Given the description of an element on the screen output the (x, y) to click on. 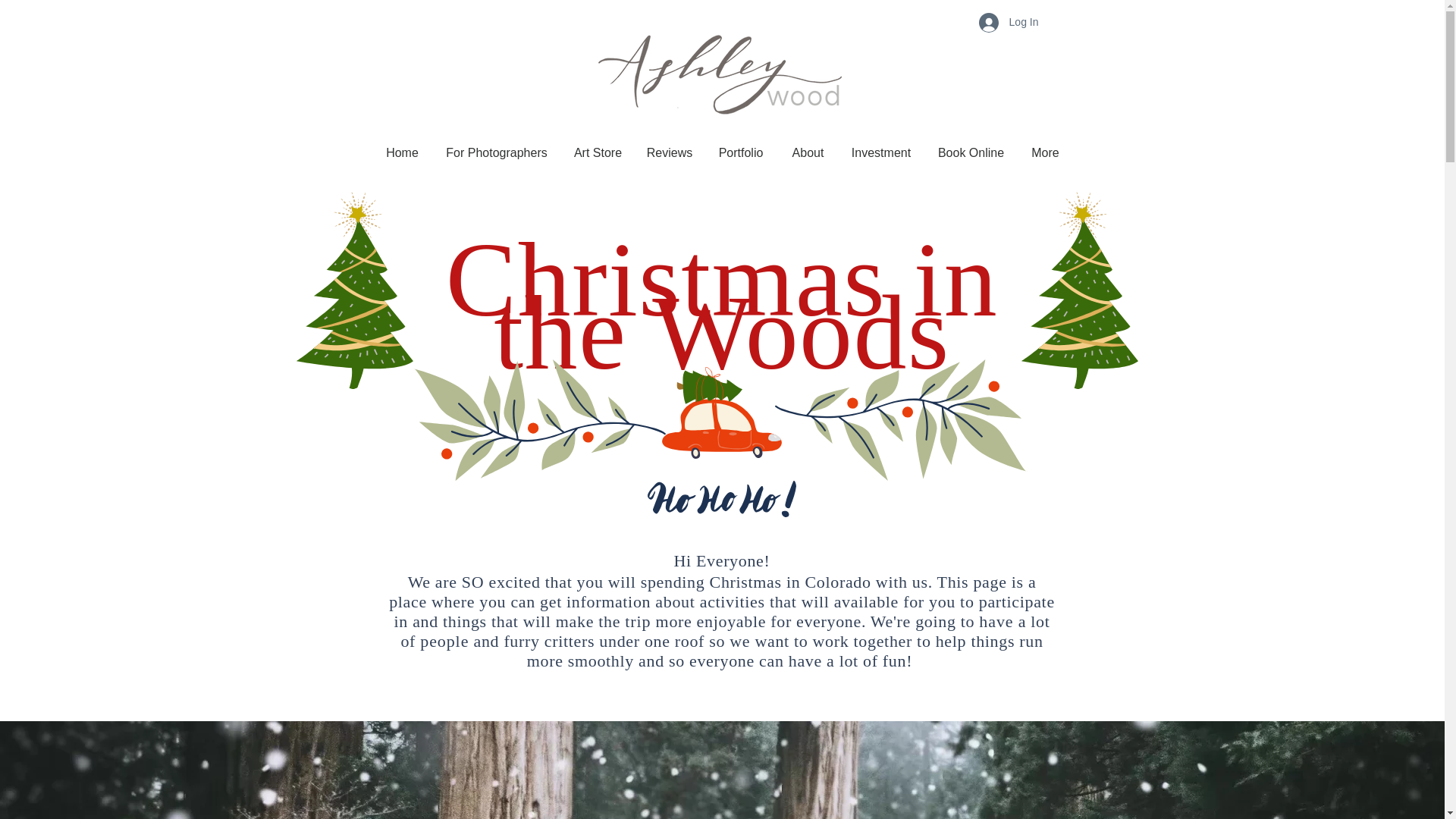
Reviews (669, 152)
Portfolio (740, 152)
Home (401, 152)
Book Online (970, 152)
For Photographers (496, 152)
About (807, 152)
Investment (881, 152)
Art Store (597, 152)
Log In (1008, 21)
